Given the description of an element on the screen output the (x, y) to click on. 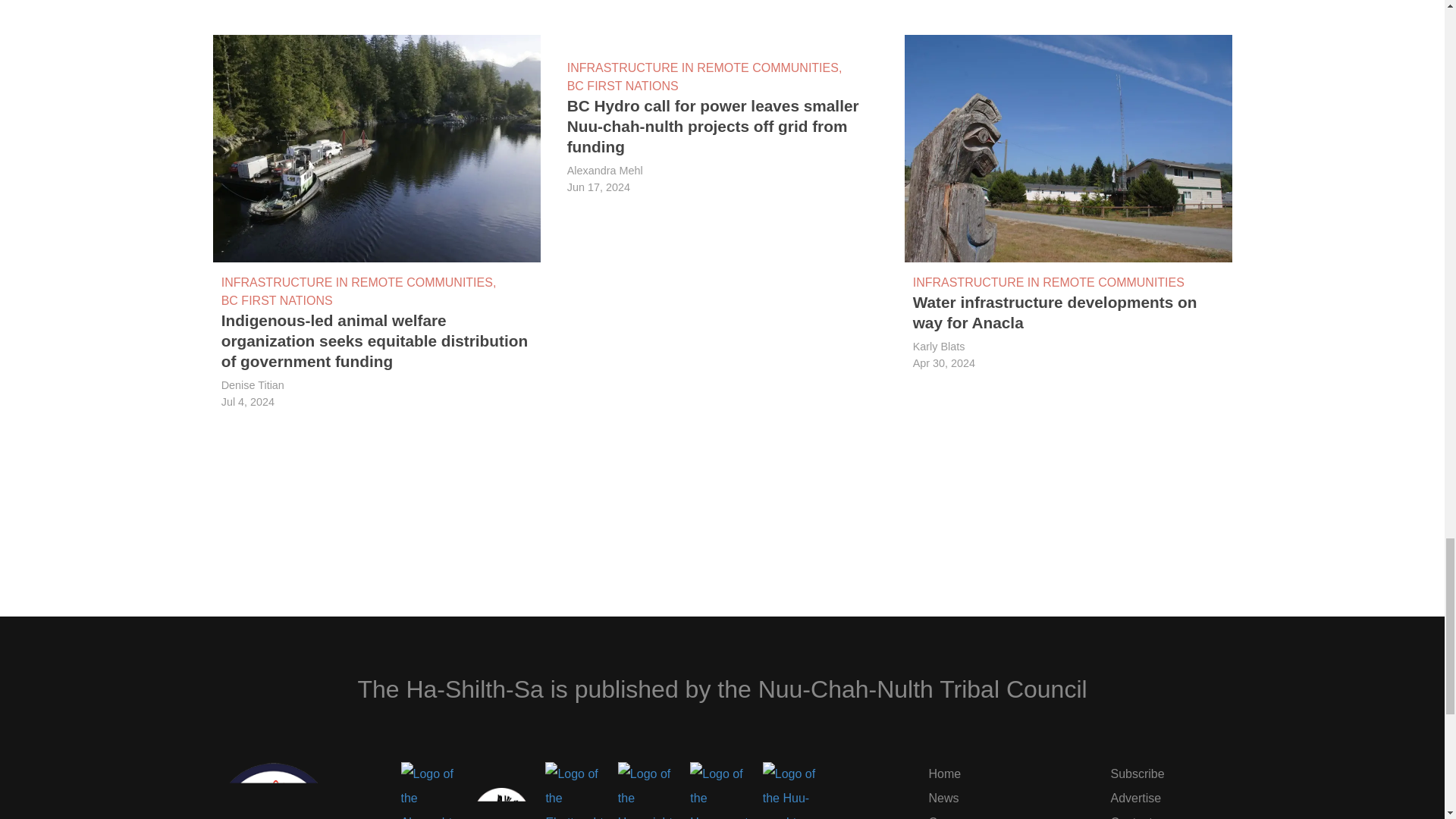
Hupacasath (718, 790)
Hesquiaht (646, 790)
Ehattesaht (573, 790)
Ahousaht (428, 790)
Hesquiaht (646, 790)
Ditidaht (501, 803)
